Given the description of an element on the screen output the (x, y) to click on. 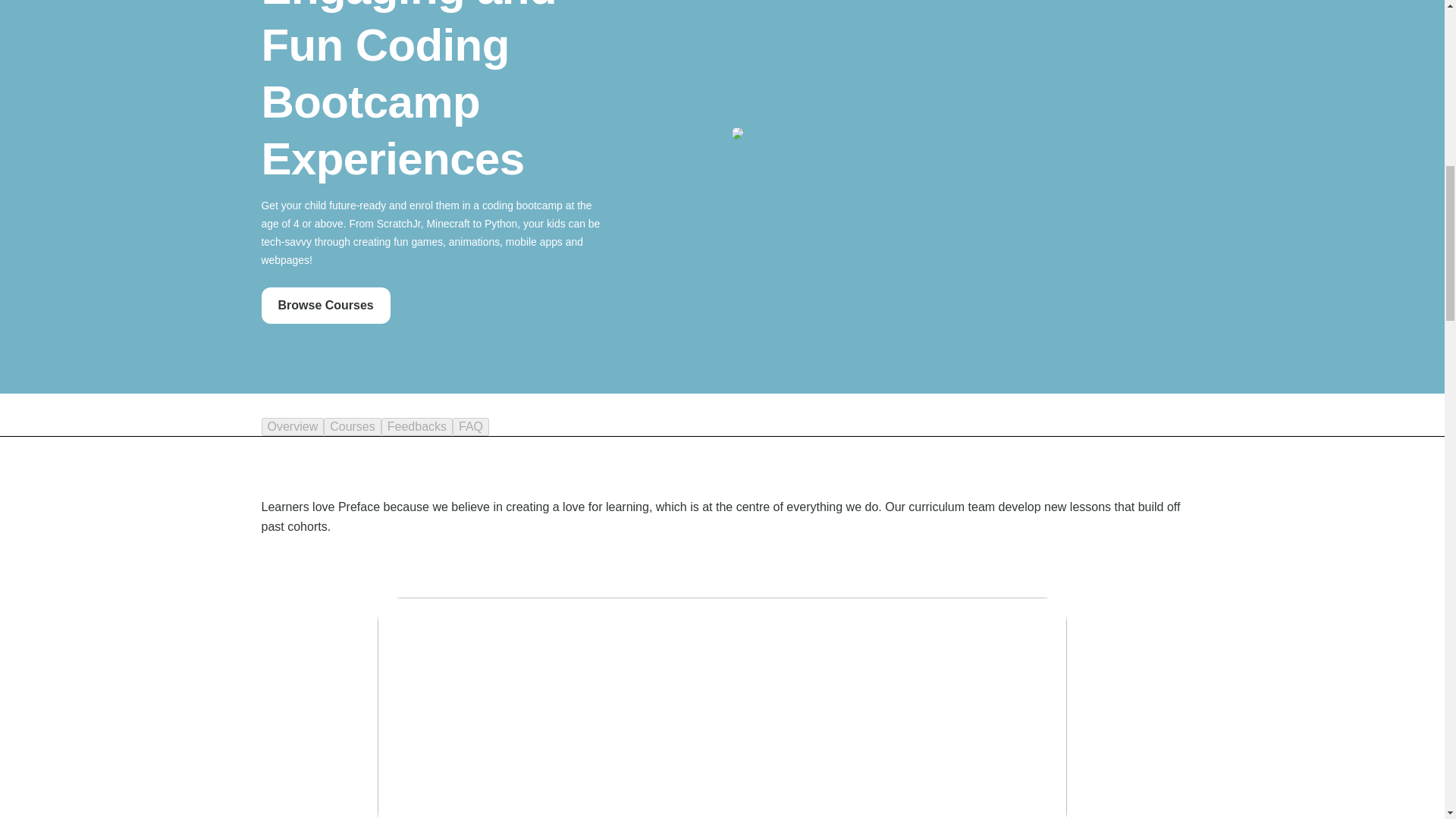
Browse Courses (325, 305)
Overview (291, 426)
Courses (352, 426)
Browse Courses (325, 305)
FAQ (470, 426)
OverviewCoursesFeedbacksFAQ (721, 426)
Feedbacks (416, 426)
